Given the description of an element on the screen output the (x, y) to click on. 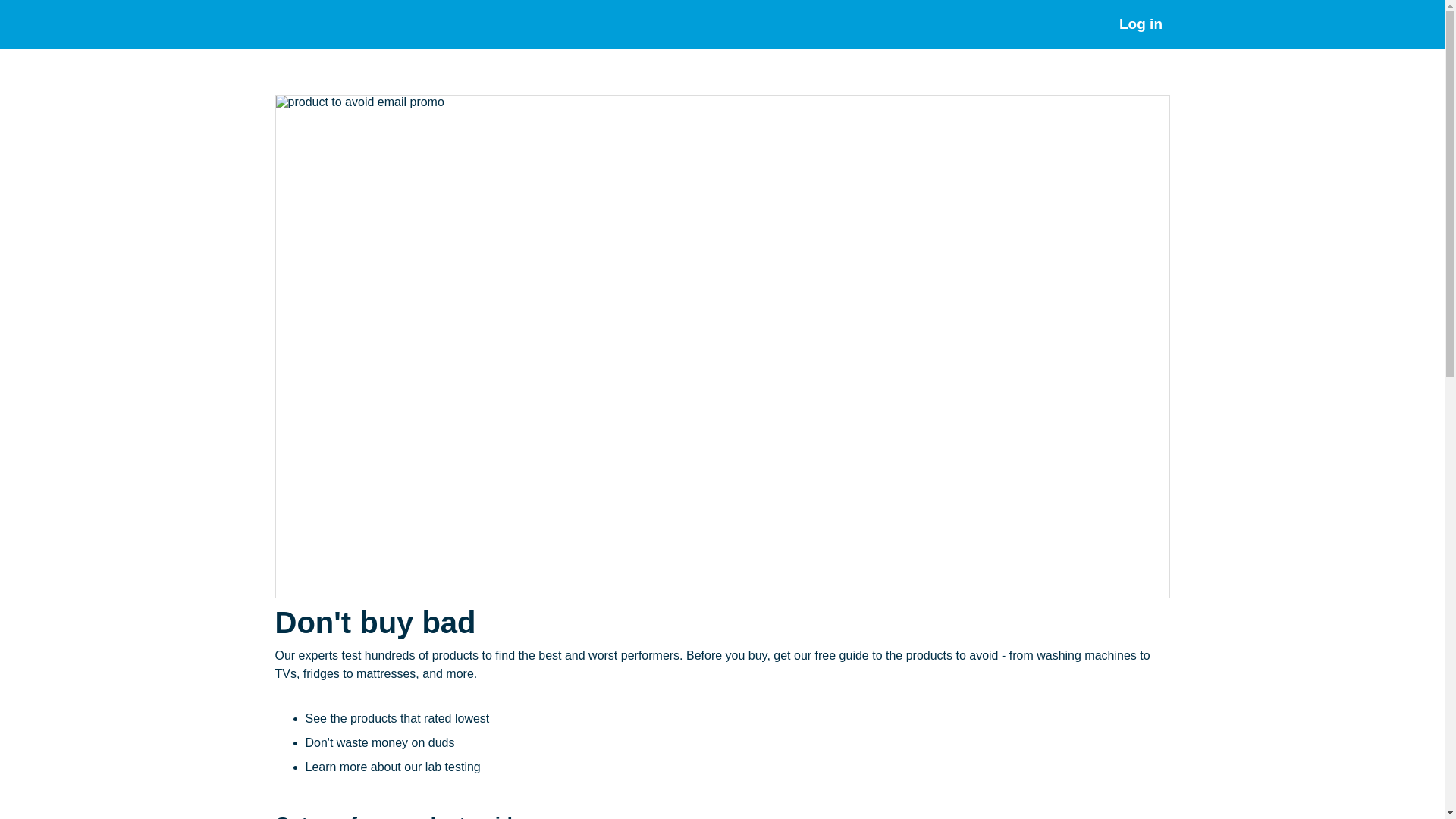
Log in (1139, 24)
Top of the content (17, 63)
